Given the description of an element on the screen output the (x, y) to click on. 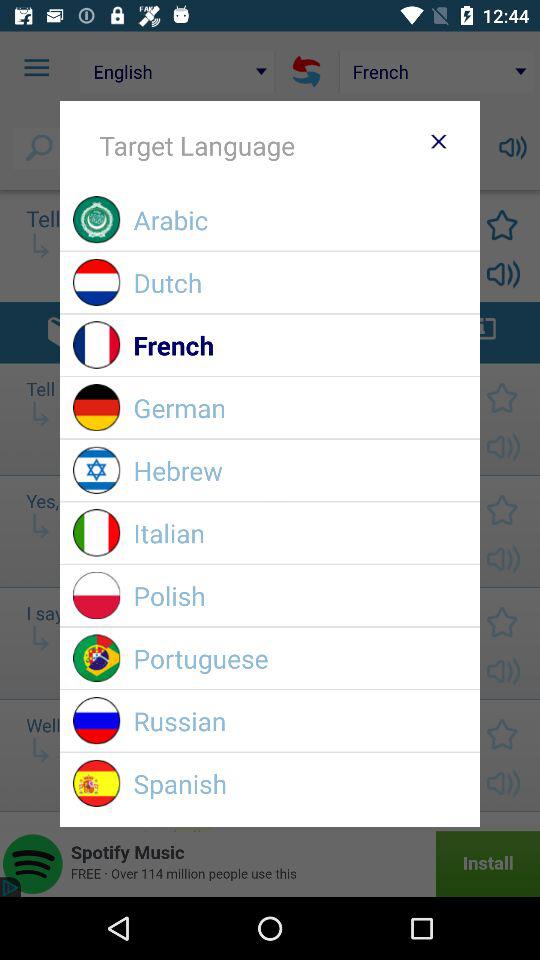
open german item (300, 407)
